Given the description of an element on the screen output the (x, y) to click on. 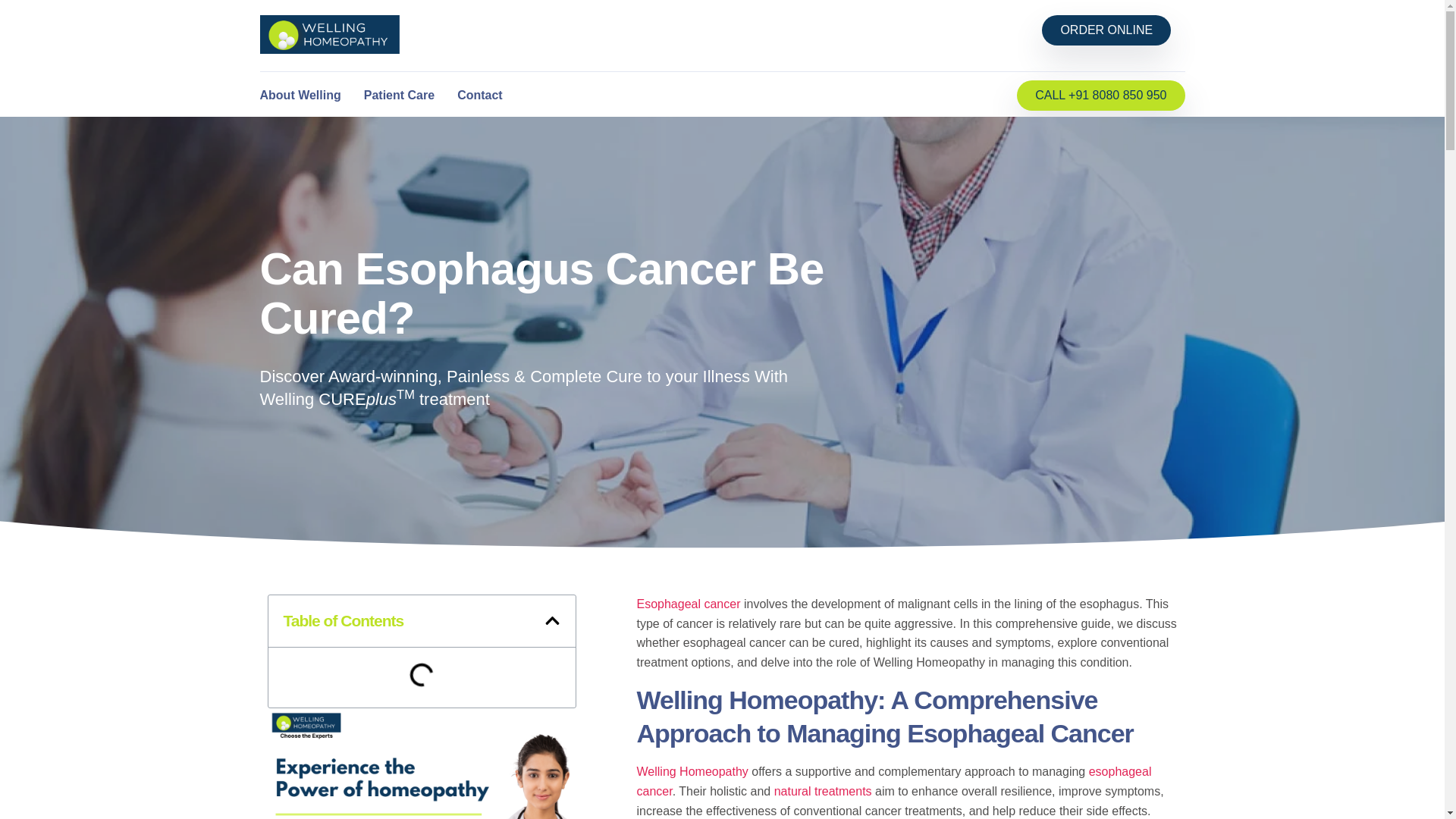
natural treatments (823, 790)
Patient Care (398, 95)
About Welling (299, 95)
Contact (479, 95)
Welling Homeopathy (692, 771)
esophageal cancer (894, 780)
ORDER ONLINE (1106, 30)
Esophageal cancer (689, 603)
